Given the description of an element on the screen output the (x, y) to click on. 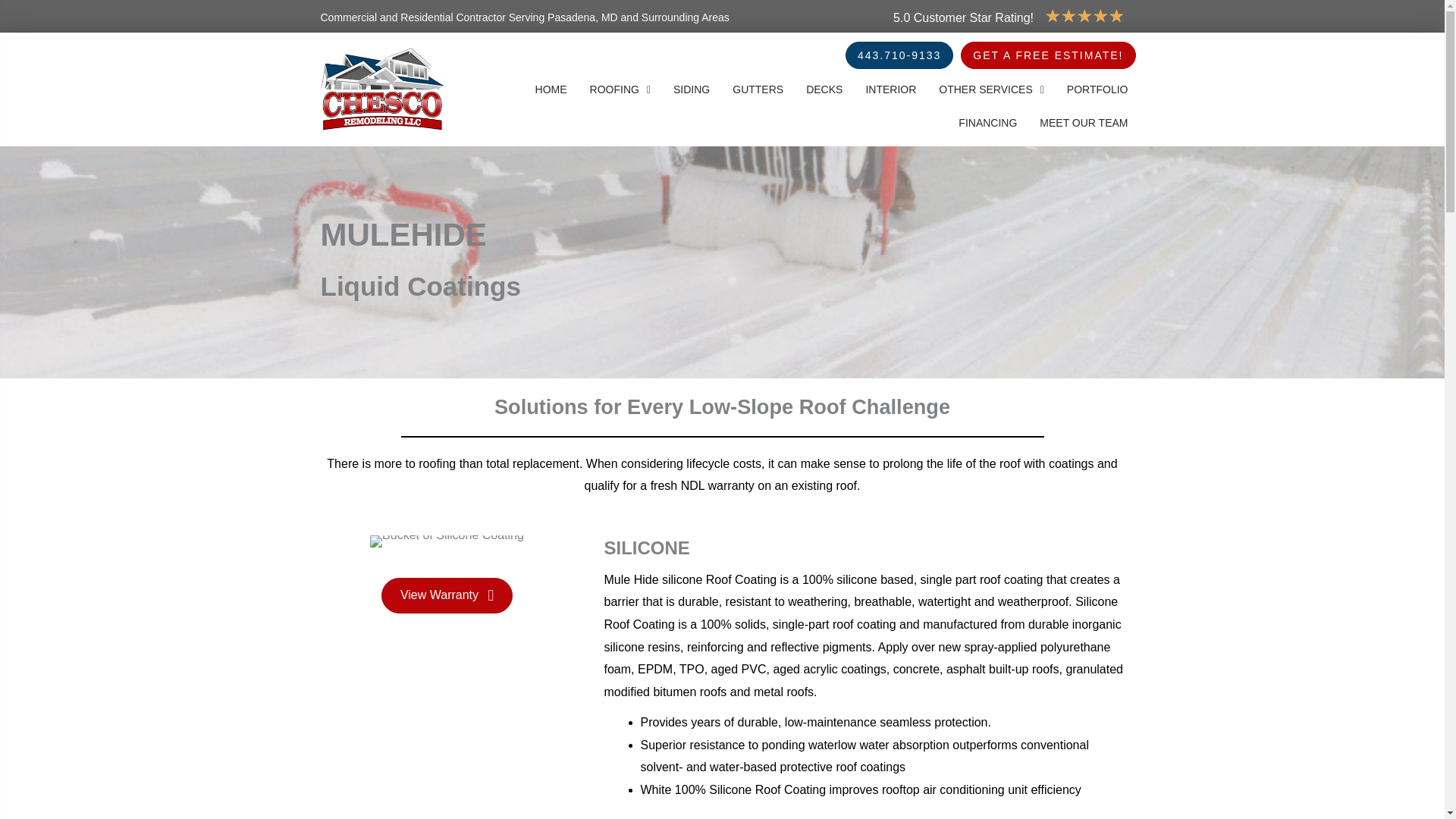
GET A FREE ESTIMATE! (1047, 54)
HOME (551, 89)
View Warranty (446, 595)
OTHER SERVICES (991, 89)
SIDING (691, 89)
Silicone (446, 541)
PORTFOLIO (1097, 89)
FINANCING (987, 122)
GUTTERS (757, 89)
Chesco Logo (382, 88)
